Given the description of an element on the screen output the (x, y) to click on. 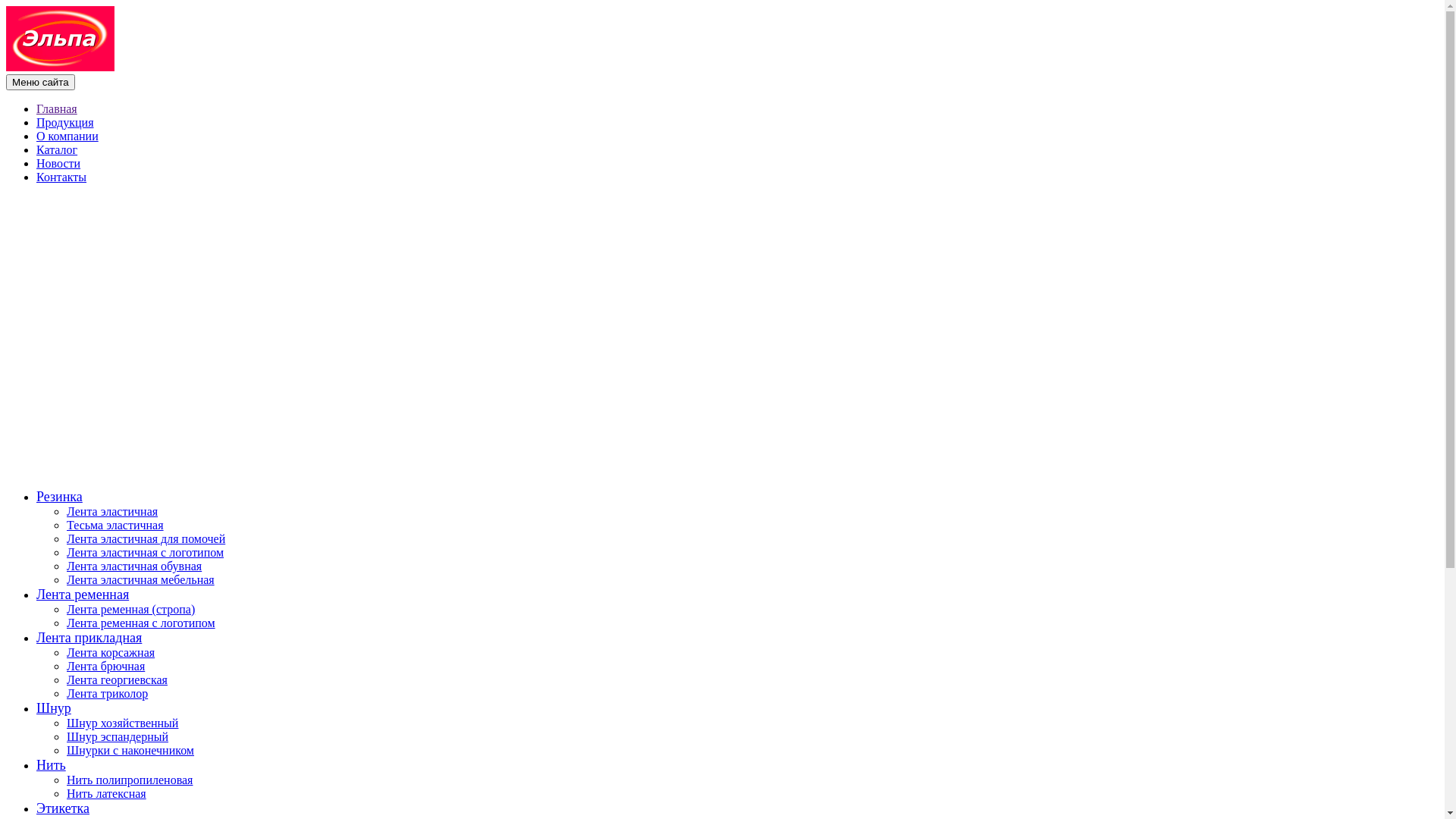
elpa2006@mail.ru Element type: text (98, 265)
